Given the description of an element on the screen output the (x, y) to click on. 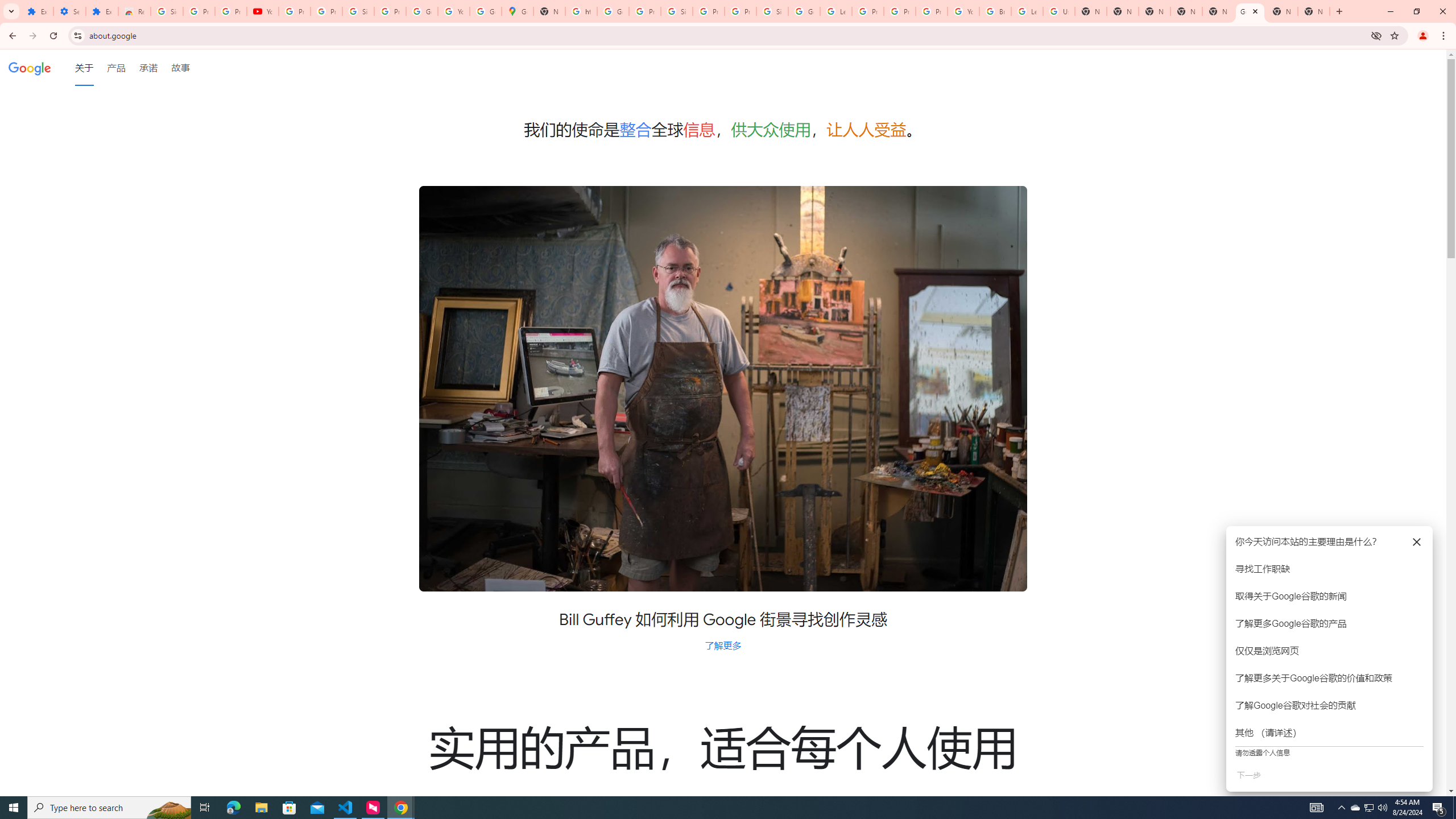
View site information (77, 35)
YouTube (262, 11)
Sign in - Google Accounts (358, 11)
Reviews: Helix Fruit Jump Arcade Game (134, 11)
New Tab (1313, 11)
Address and search bar (726, 35)
Reload (52, 35)
Settings (69, 11)
Search tabs (10, 11)
Browse Chrome as a guest - Computer - Google Chrome Help (995, 11)
